Given the description of an element on the screen output the (x, y) to click on. 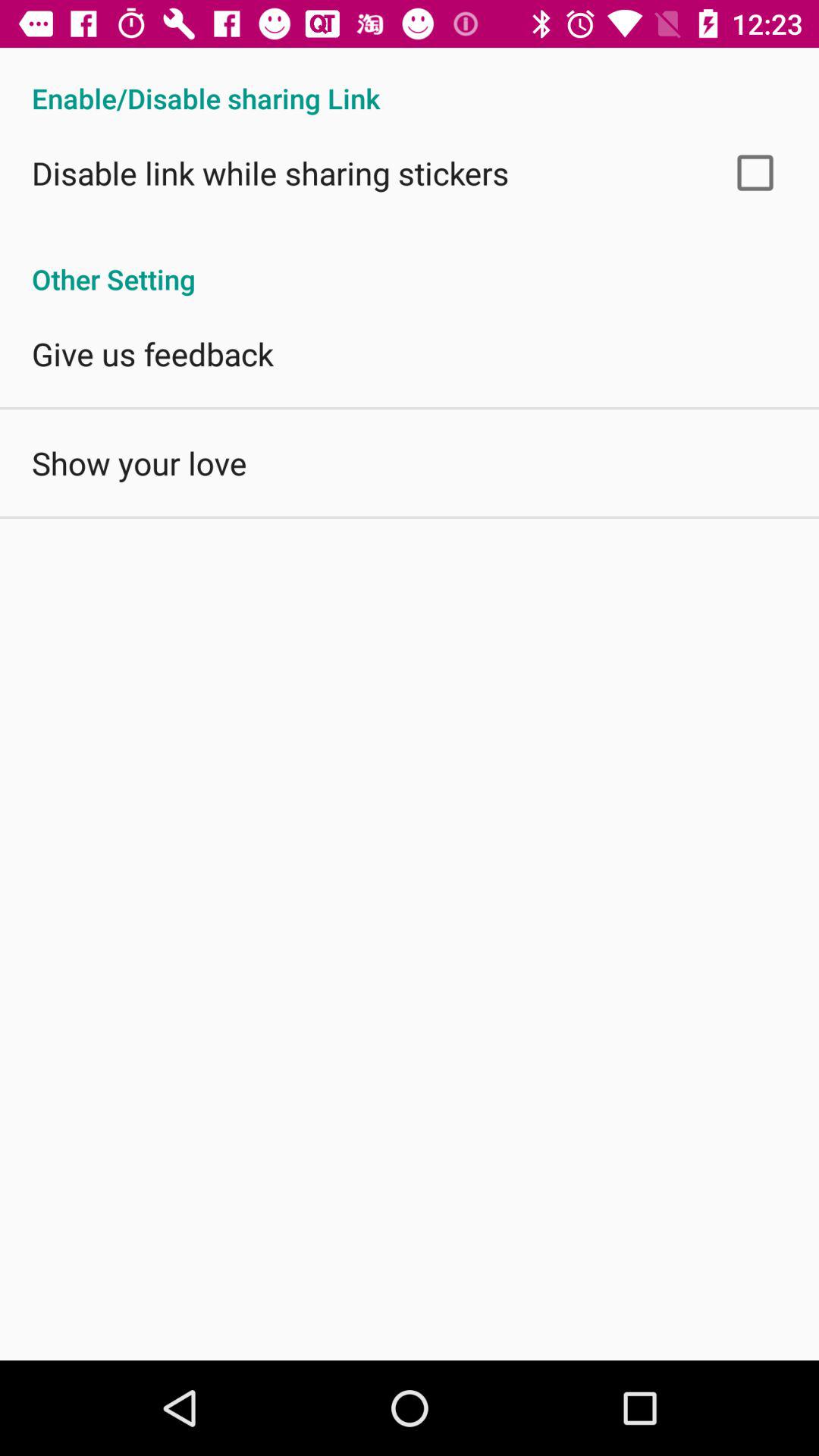
choose enable disable sharing app (409, 82)
